Given the description of an element on the screen output the (x, y) to click on. 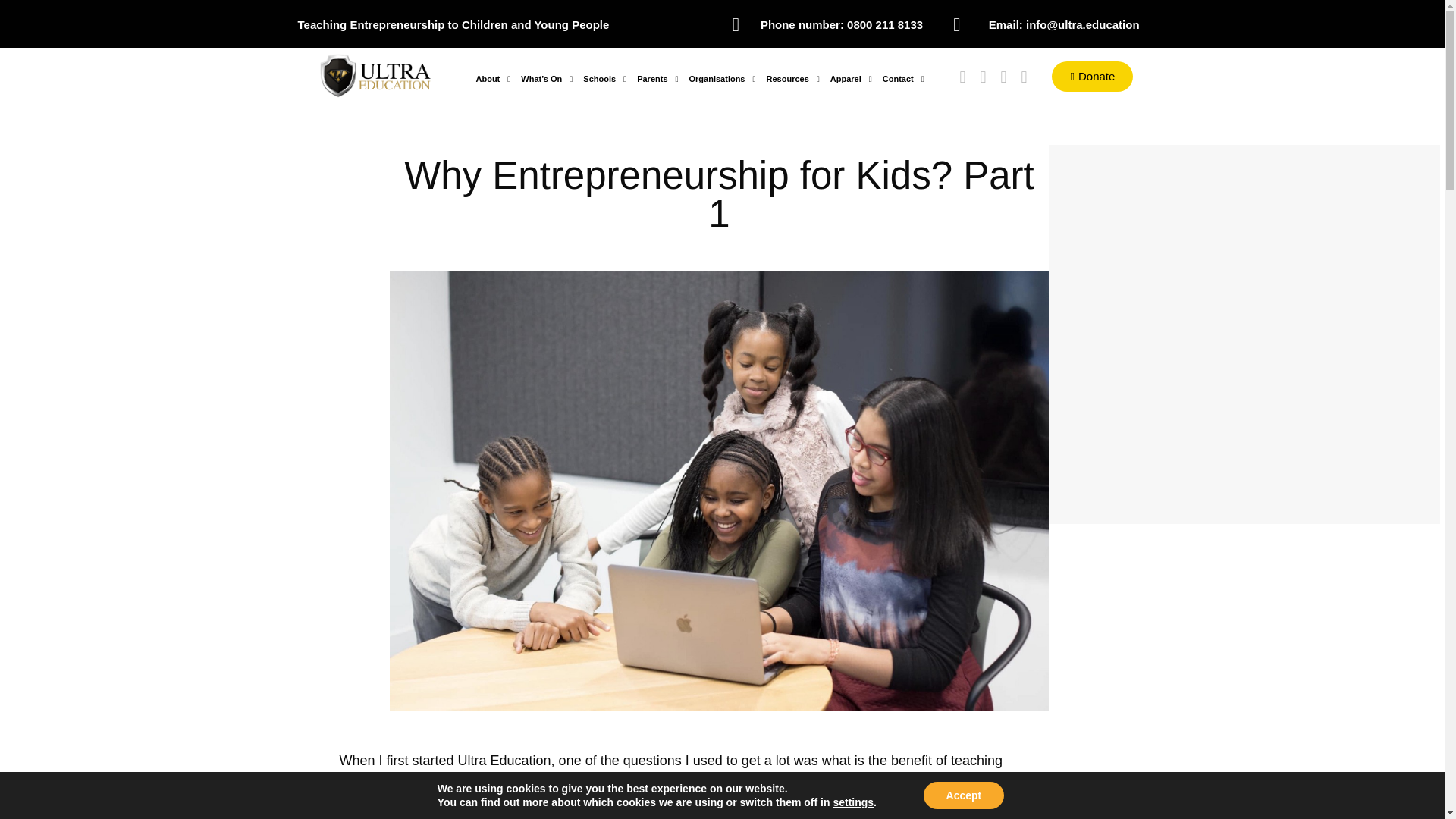
Contact (903, 78)
Schools (604, 78)
Parents (656, 78)
About (492, 78)
Phone number: 0800 211 8133 (841, 24)
Apparel (851, 78)
Organisations (722, 78)
Resources (793, 78)
